Given the description of an element on the screen output the (x, y) to click on. 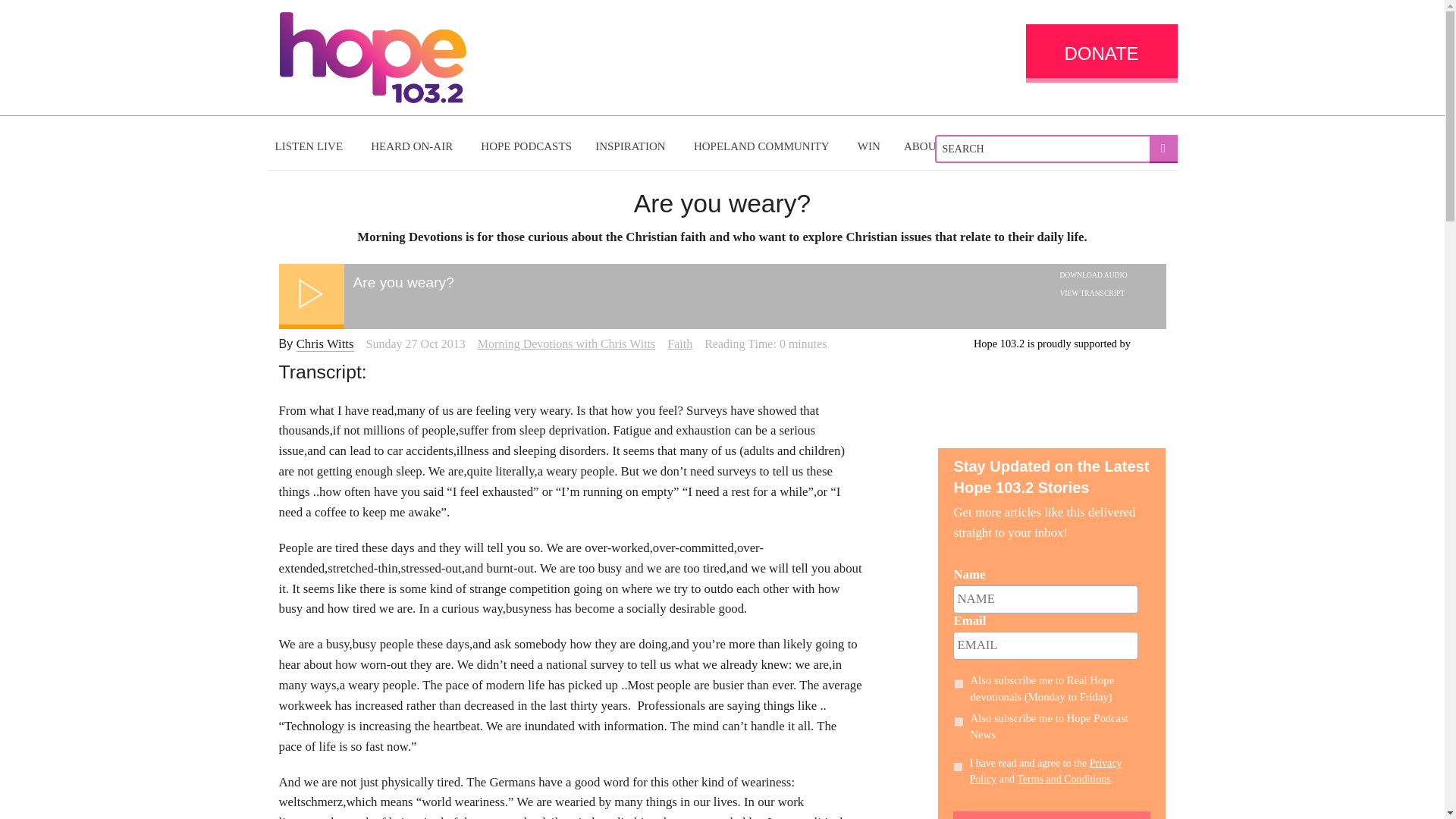
INSPIRATION (633, 146)
LISTEN LIVE (310, 146)
HOPELAND COMMUNITY (763, 146)
HOPE PODCASTS (526, 146)
HEARD ON-AIR (413, 146)
DONATE (1100, 53)
